Given the description of an element on the screen output the (x, y) to click on. 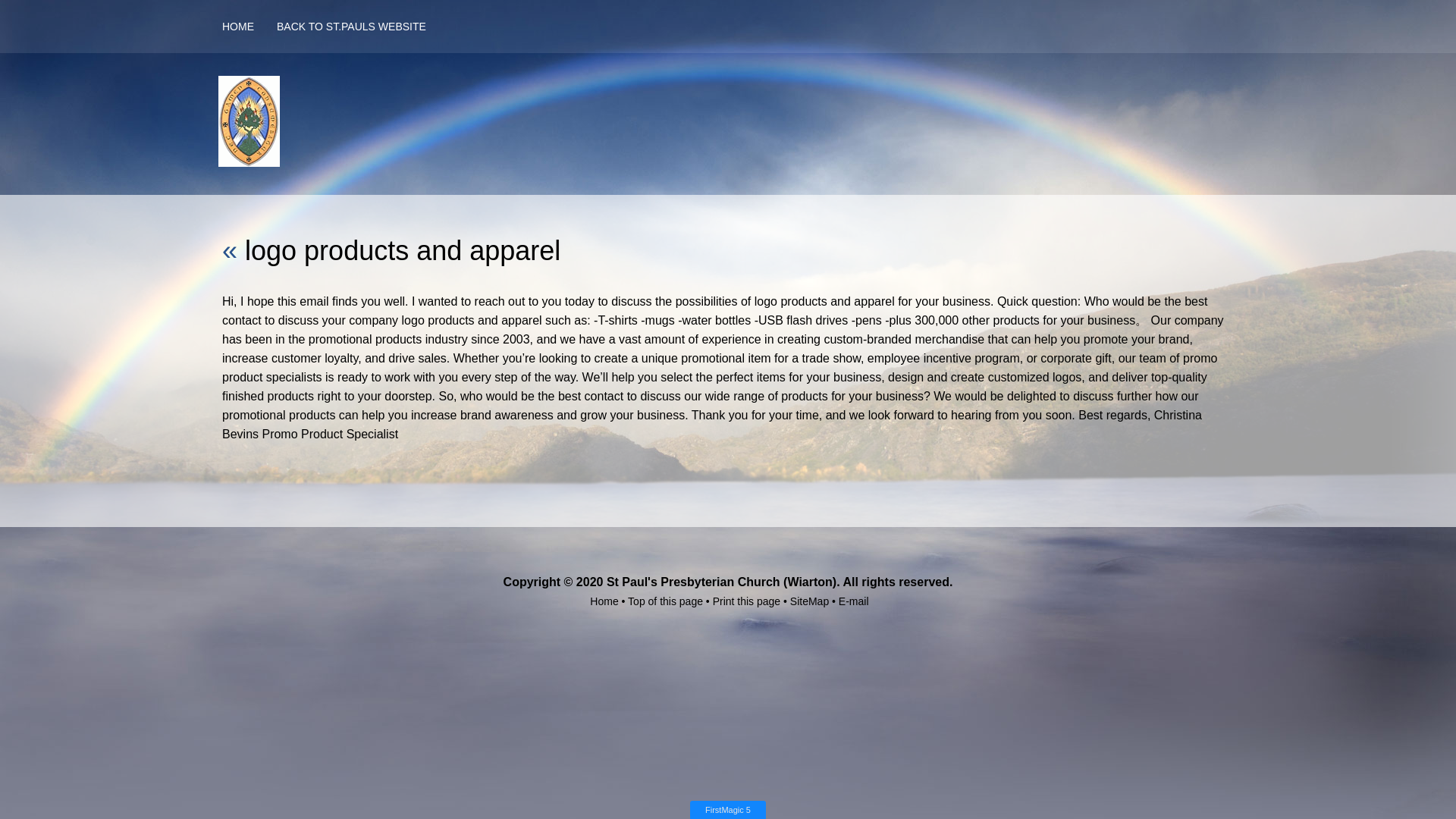
HOME (249, 26)
BACK TO ST.PAULS WEBSITE (362, 26)
